Given the description of an element on the screen output the (x, y) to click on. 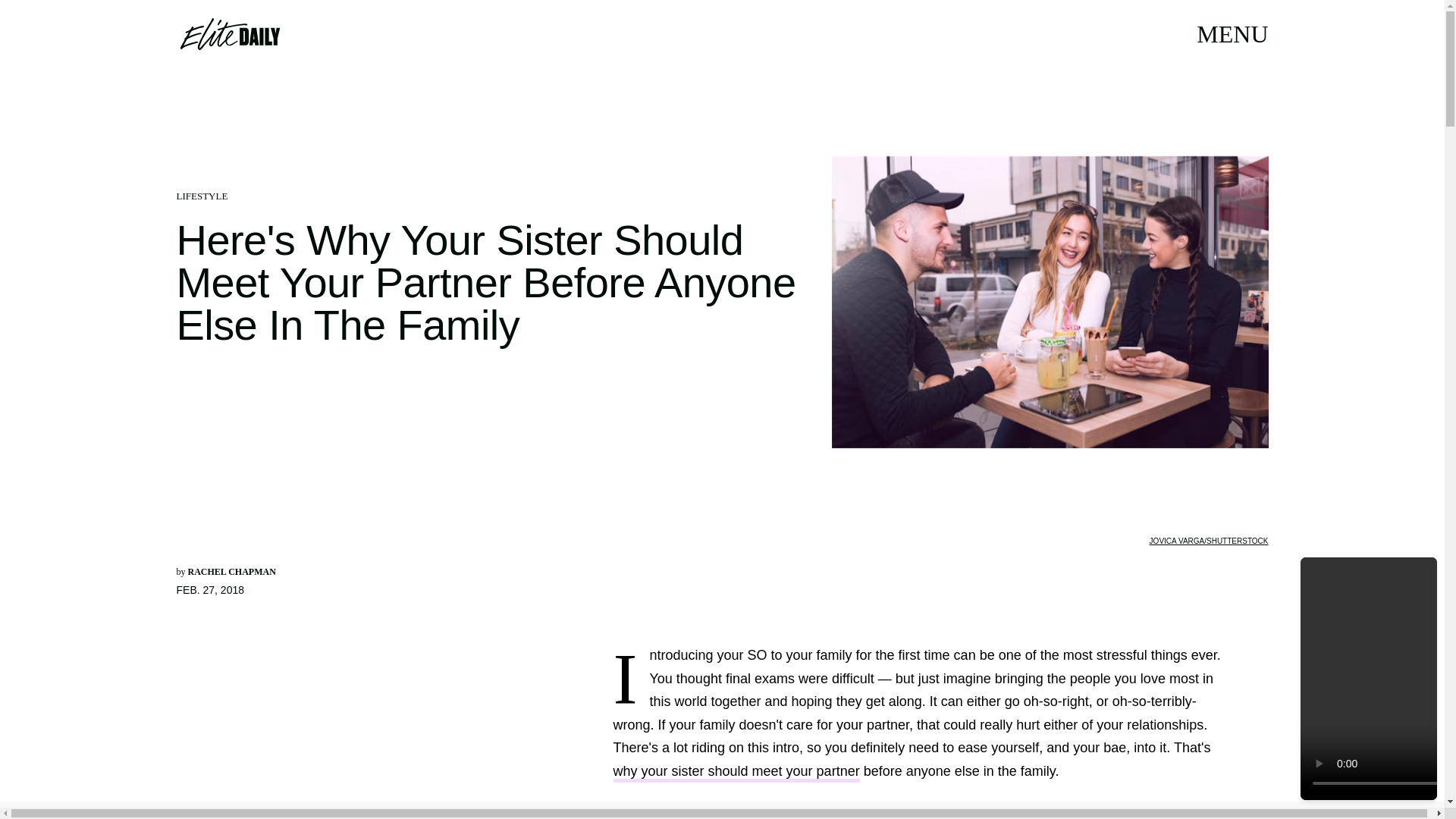
Elite Daily (229, 33)
RACHEL CHAPMAN (231, 571)
why your sister should meet your partner (735, 772)
